Given the description of an element on the screen output the (x, y) to click on. 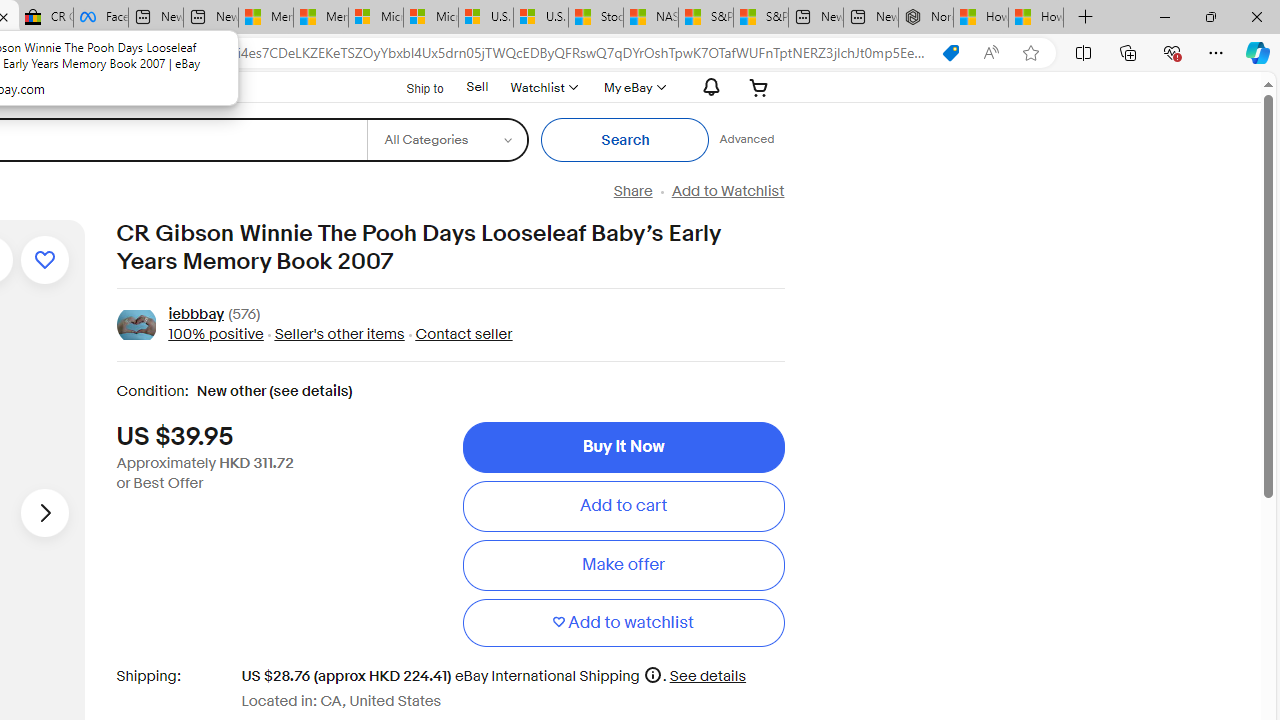
WatchlistExpand Watch List (543, 87)
Make offer (623, 565)
100% positive (215, 334)
See details for shipping (708, 676)
Browser essentials (1171, 52)
Facebook (100, 17)
Minimize (1164, 16)
Search (625, 140)
How to Use a Monitor With Your Closed Laptop (1035, 17)
Your shopping cart (759, 87)
Sell (477, 86)
Add to watchlist (623, 622)
